Given the description of an element on the screen output the (x, y) to click on. 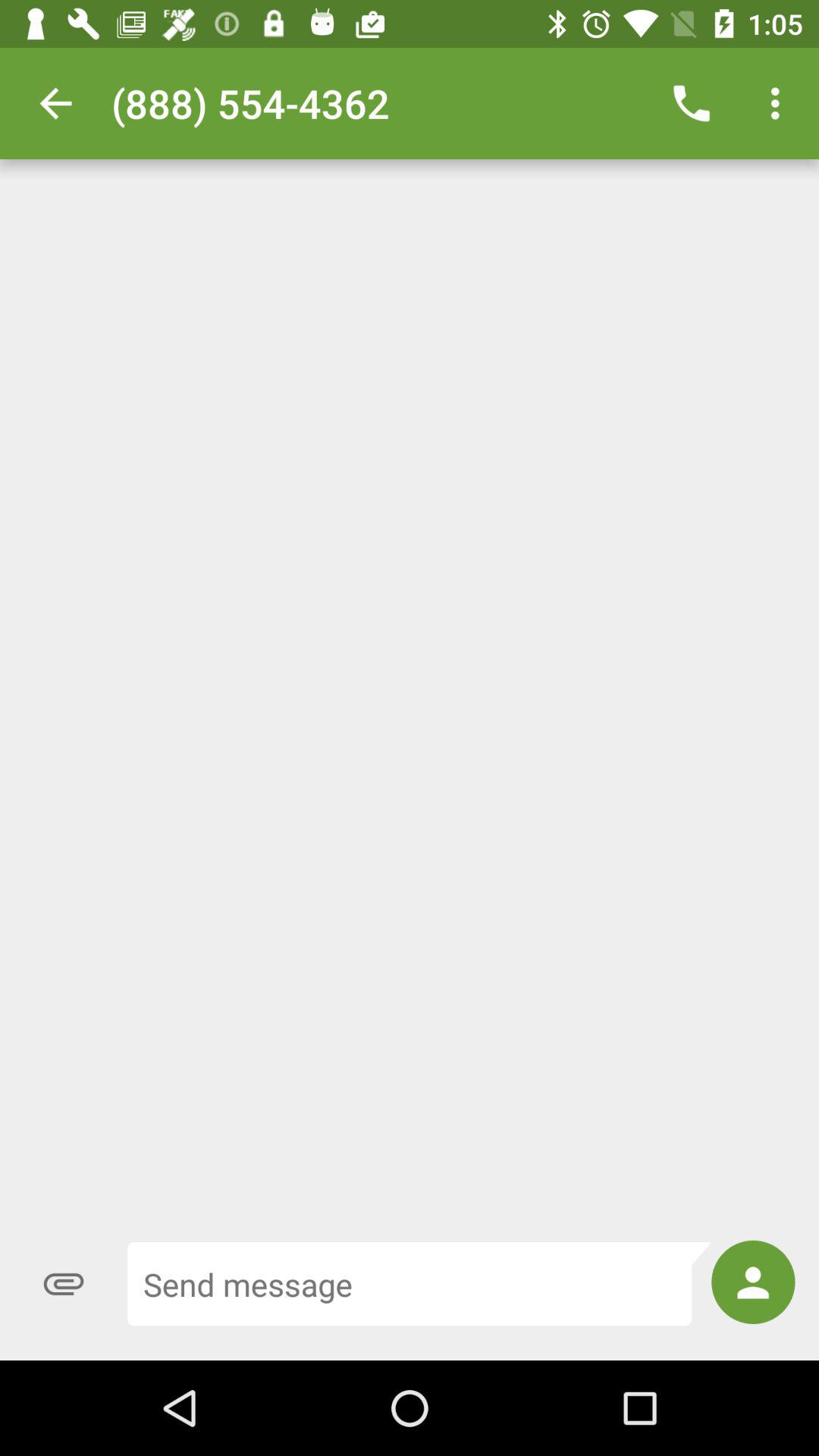
click icon at the bottom left corner (63, 1284)
